Given the description of an element on the screen output the (x, y) to click on. 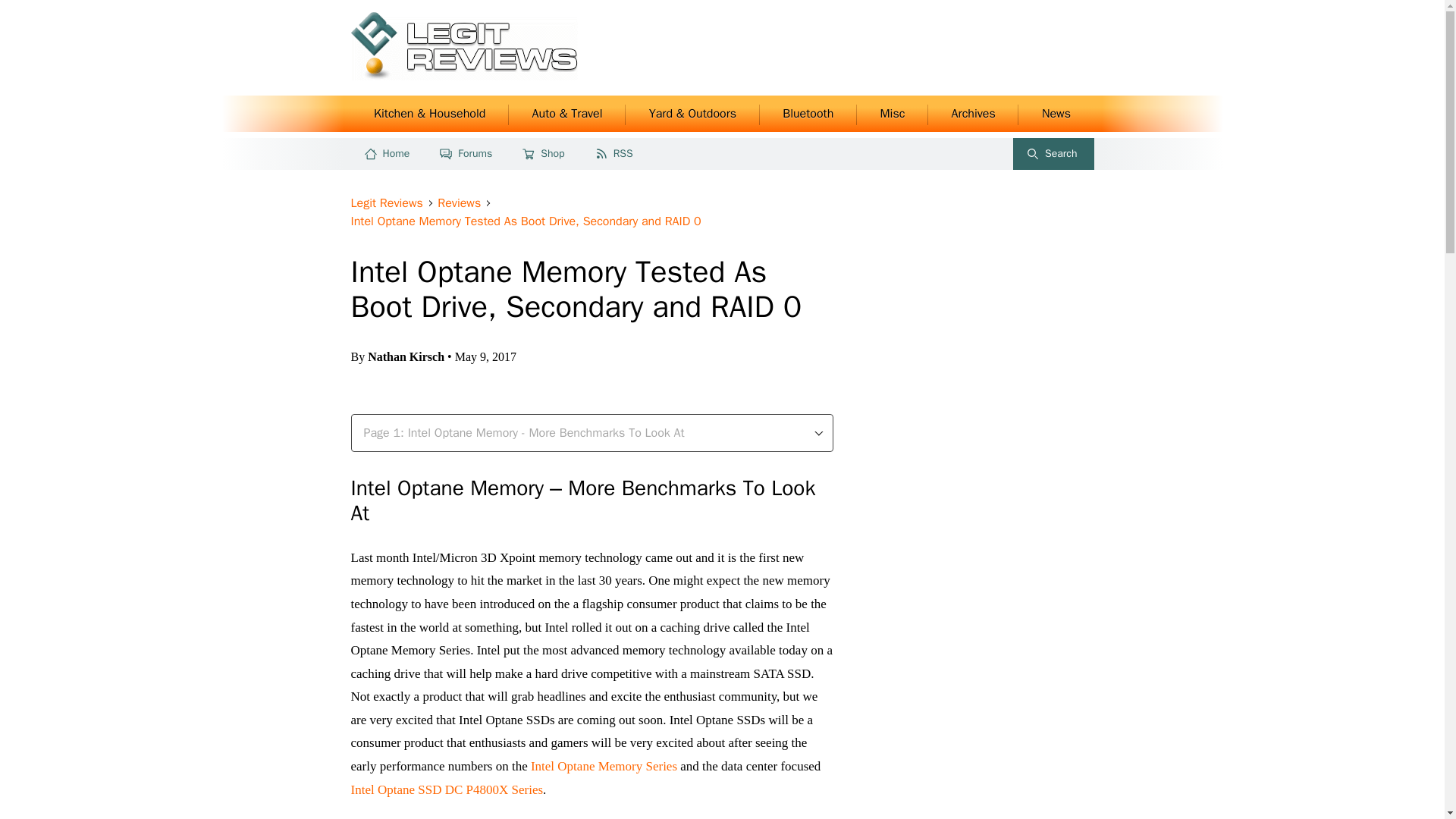
Misc (892, 113)
RSS (614, 153)
Reviews (461, 202)
Archives (972, 113)
Intel Optane SSD DC P4800X Series (446, 789)
Bluetooth (1053, 153)
May 9, 2017 at 9:42am (808, 113)
News (485, 356)
Forums (1055, 113)
